Given the description of an element on the screen output the (x, y) to click on. 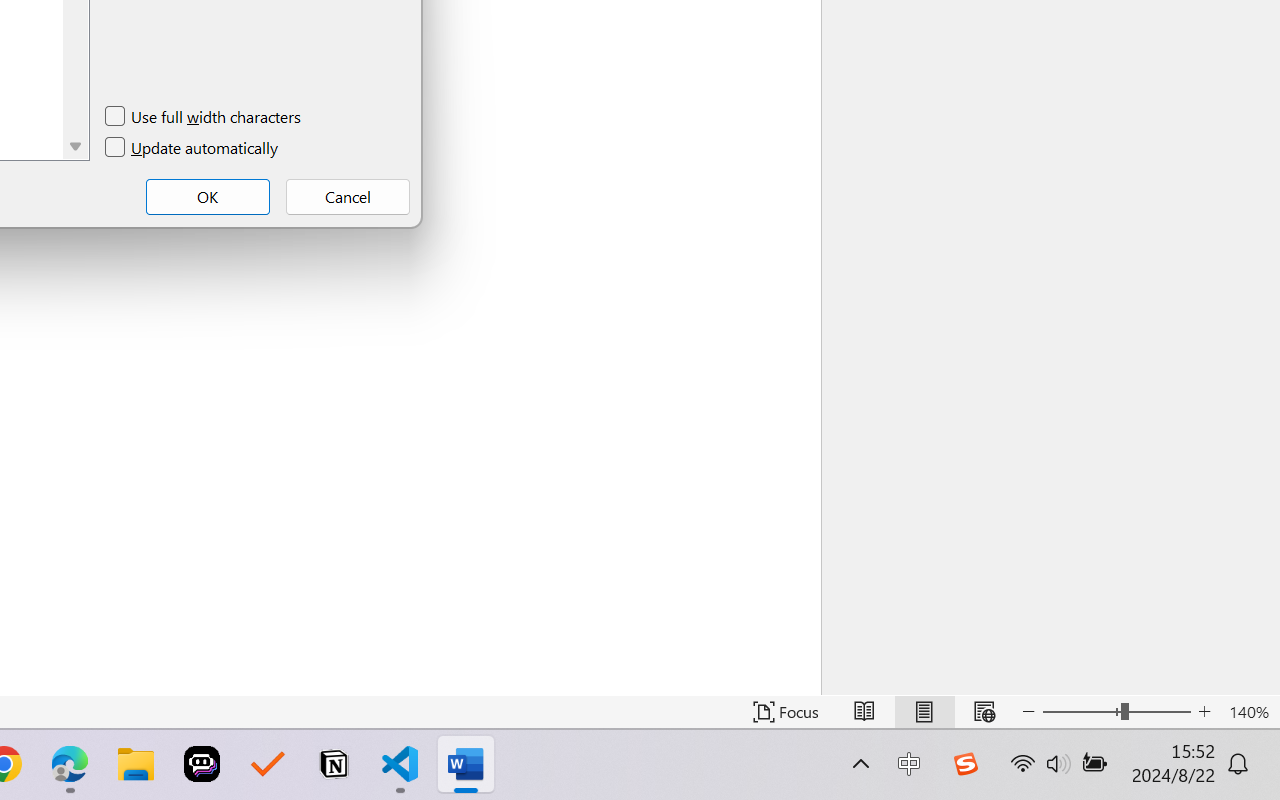
Zoom 100% (1234, 743)
